Given the description of an element on the screen output the (x, y) to click on. 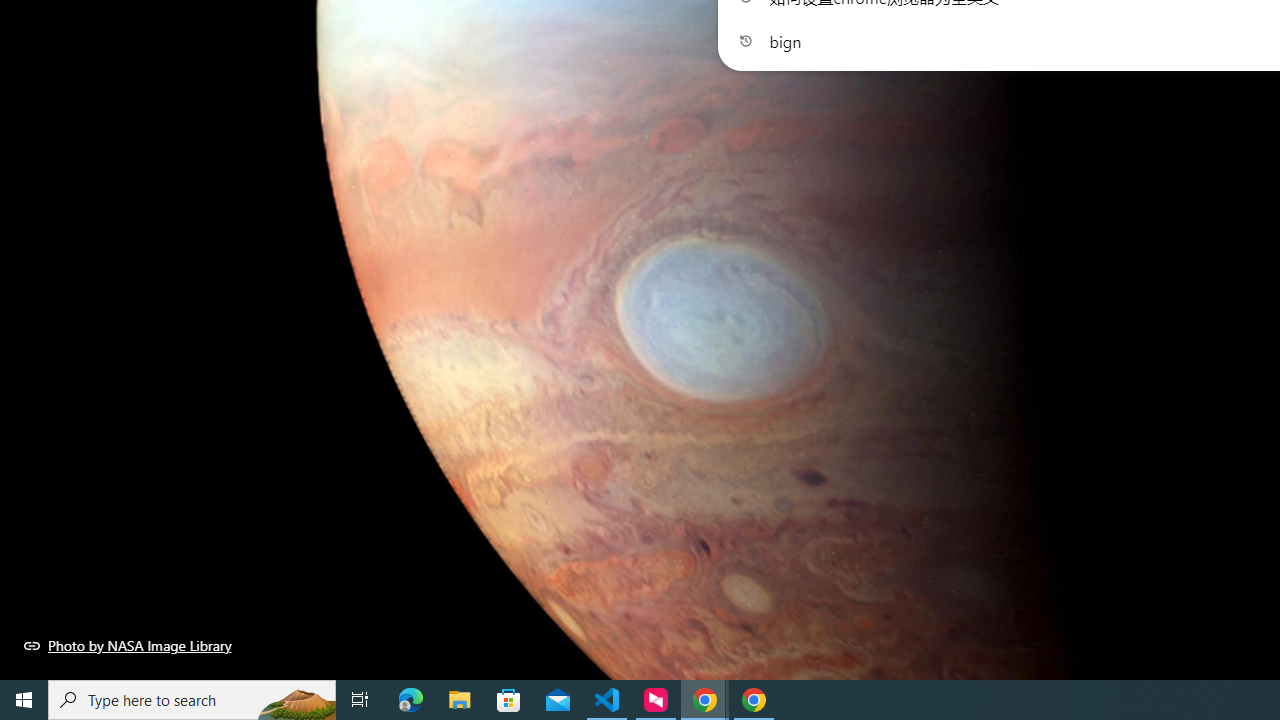
Photo by NASA Image Library (127, 645)
